Given the description of an element on the screen output the (x, y) to click on. 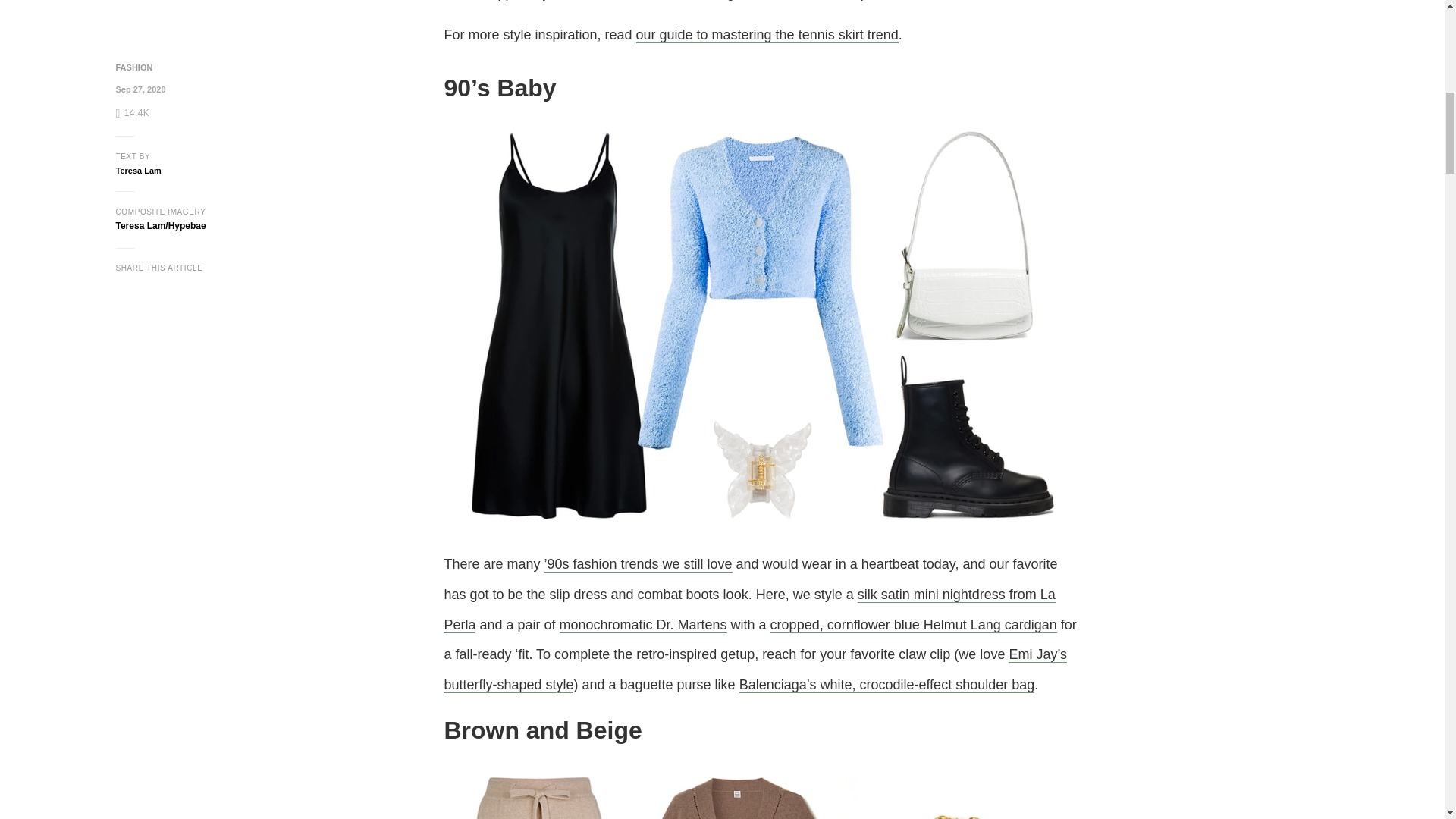
cropped, cornflower blue Helmut Lang cardigan (913, 625)
silk satin mini nightdress from La Perla (749, 610)
our guide to mastering the tennis skirt trend (766, 35)
monochromatic Dr. Martens (642, 625)
